Given the description of an element on the screen output the (x, y) to click on. 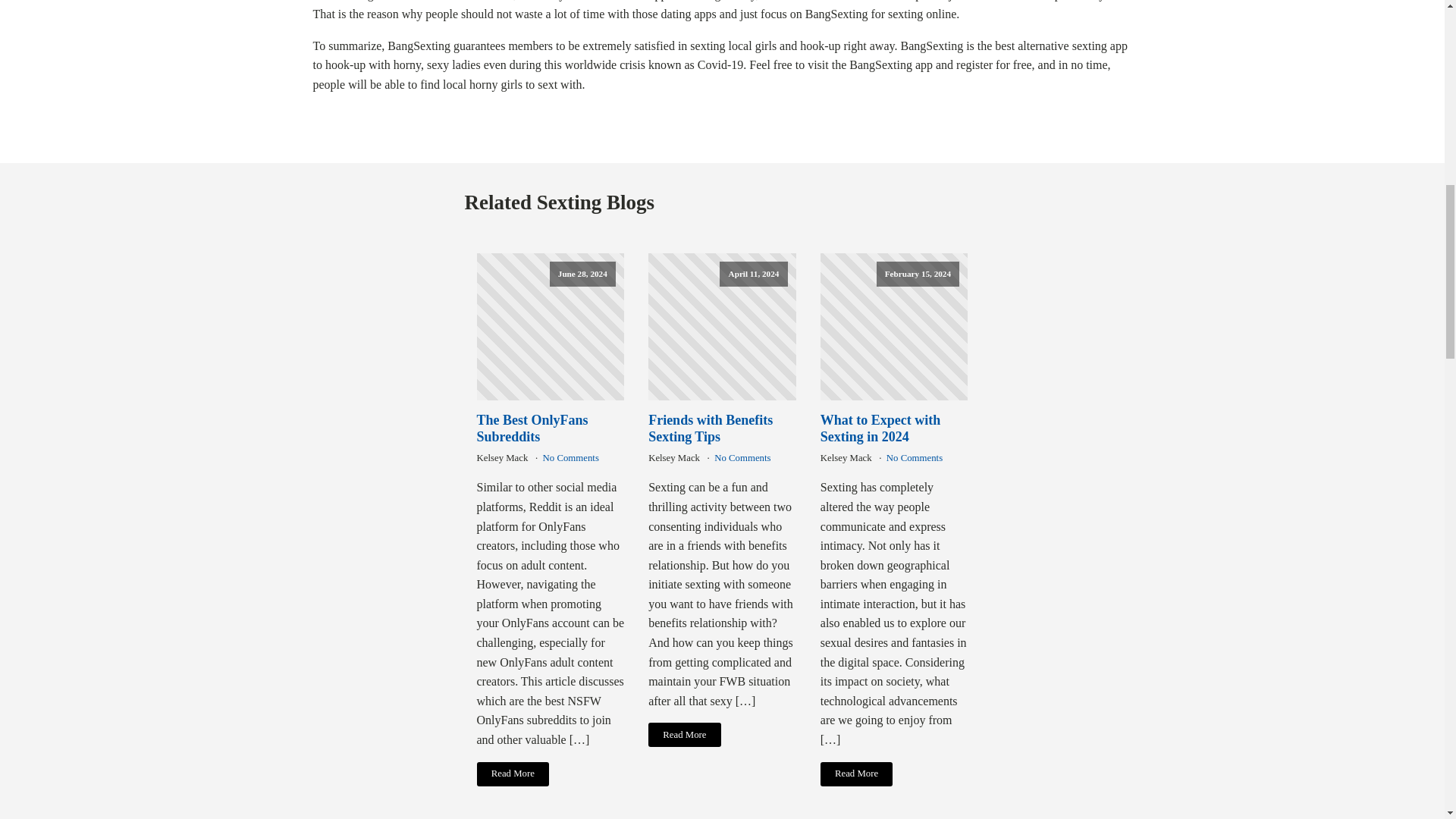
No Comments (742, 457)
February 15, 2024 (894, 327)
Friends with Benefits Sexting Tips (721, 428)
No Comments (914, 457)
The Best OnlyFans Subreddits (550, 428)
What to Expect with Sexting in 2024 (894, 428)
Read More (512, 774)
June 28, 2024 (550, 327)
No Comments (570, 457)
Read More (683, 734)
Read More (857, 774)
April 11, 2024 (721, 327)
